Given the description of an element on the screen output the (x, y) to click on. 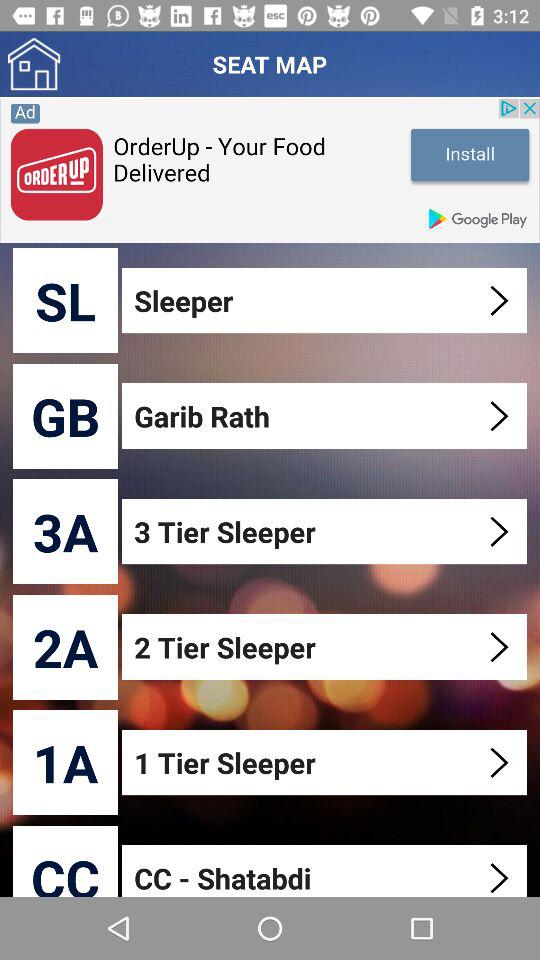
go to home (33, 63)
